Given the description of an element on the screen output the (x, y) to click on. 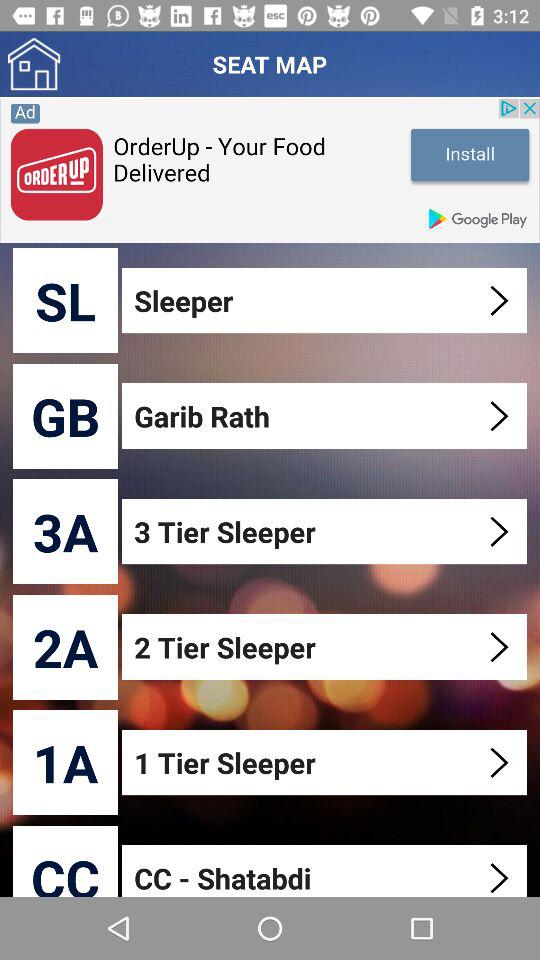
go to home (33, 63)
